Given the description of an element on the screen output the (x, y) to click on. 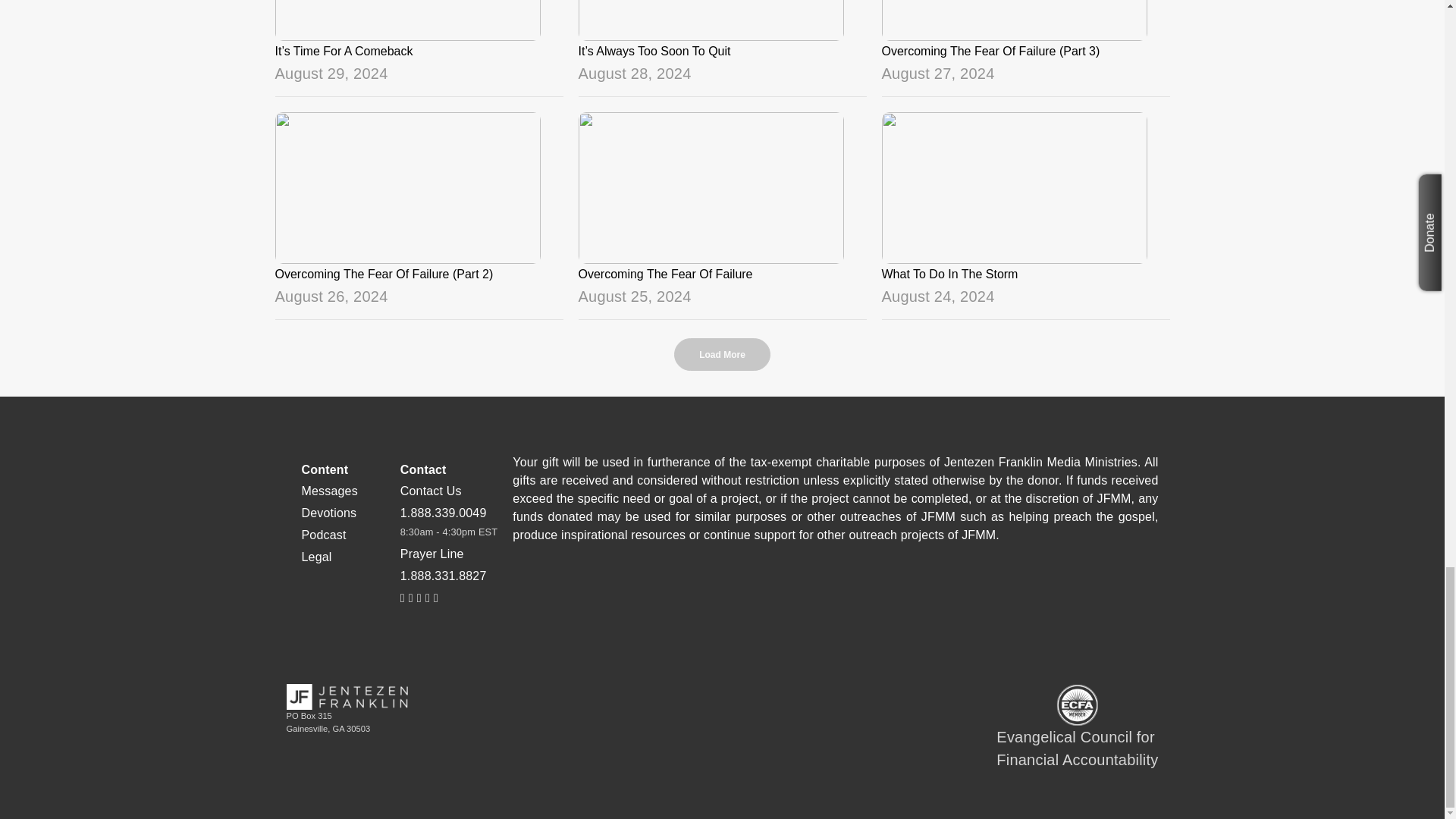
Overcoming The Fear Of Failure (722, 243)
What to Do in the Storm (1024, 243)
Jentezen Franklin (346, 696)
